Given the description of an element on the screen output the (x, y) to click on. 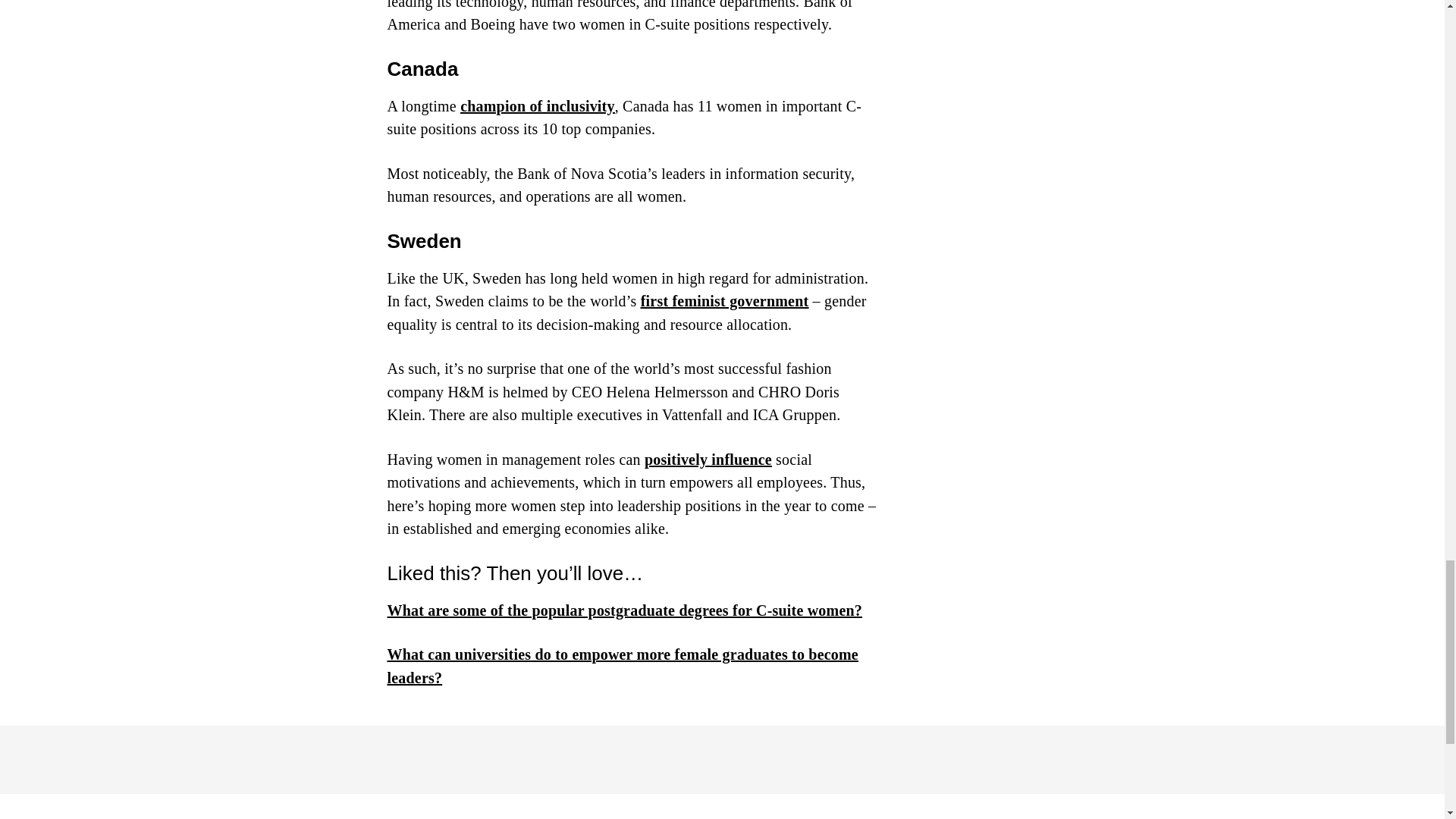
champion of inclusivity (537, 105)
